Given the description of an element on the screen output the (x, y) to click on. 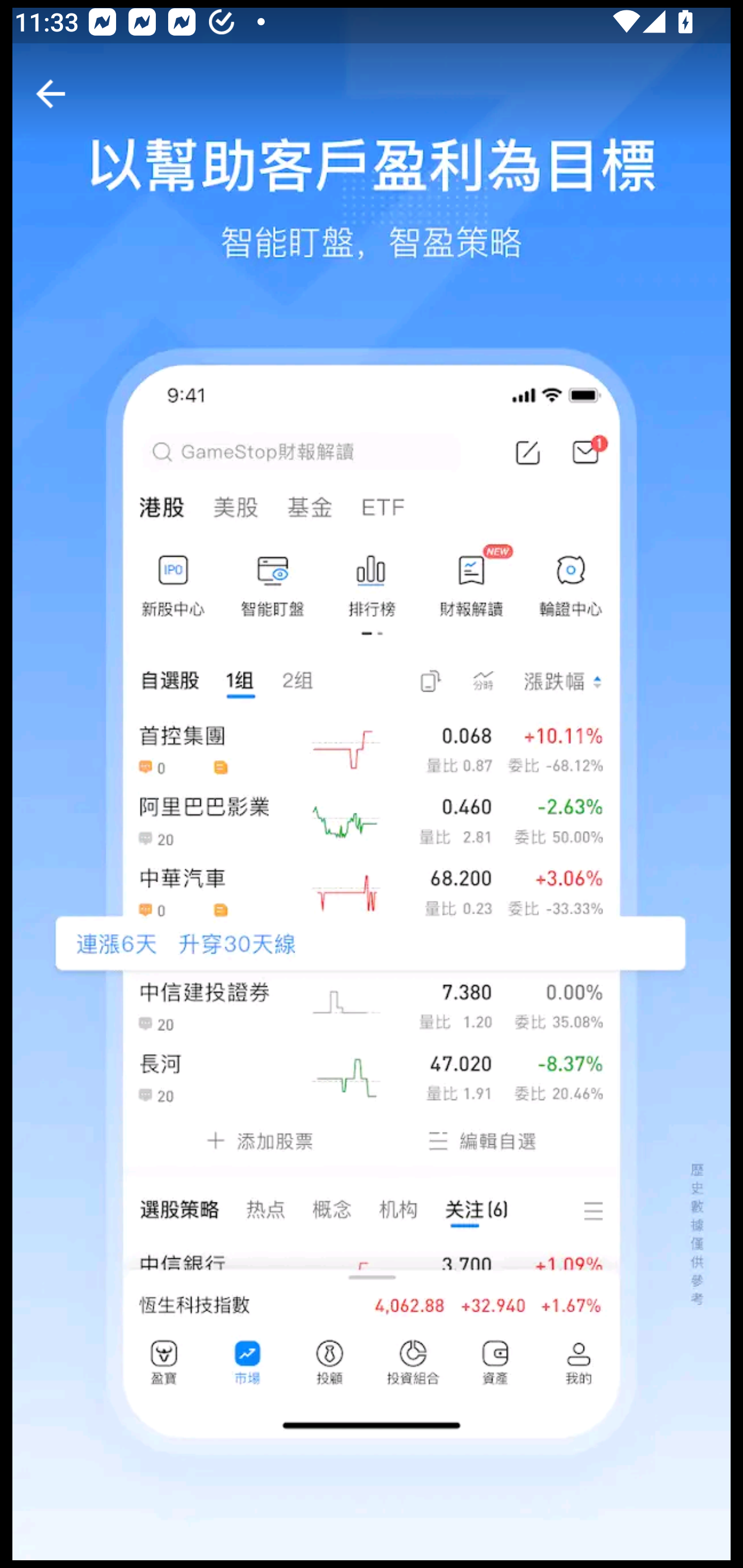
Back (50, 93)
